Given the description of an element on the screen output the (x, y) to click on. 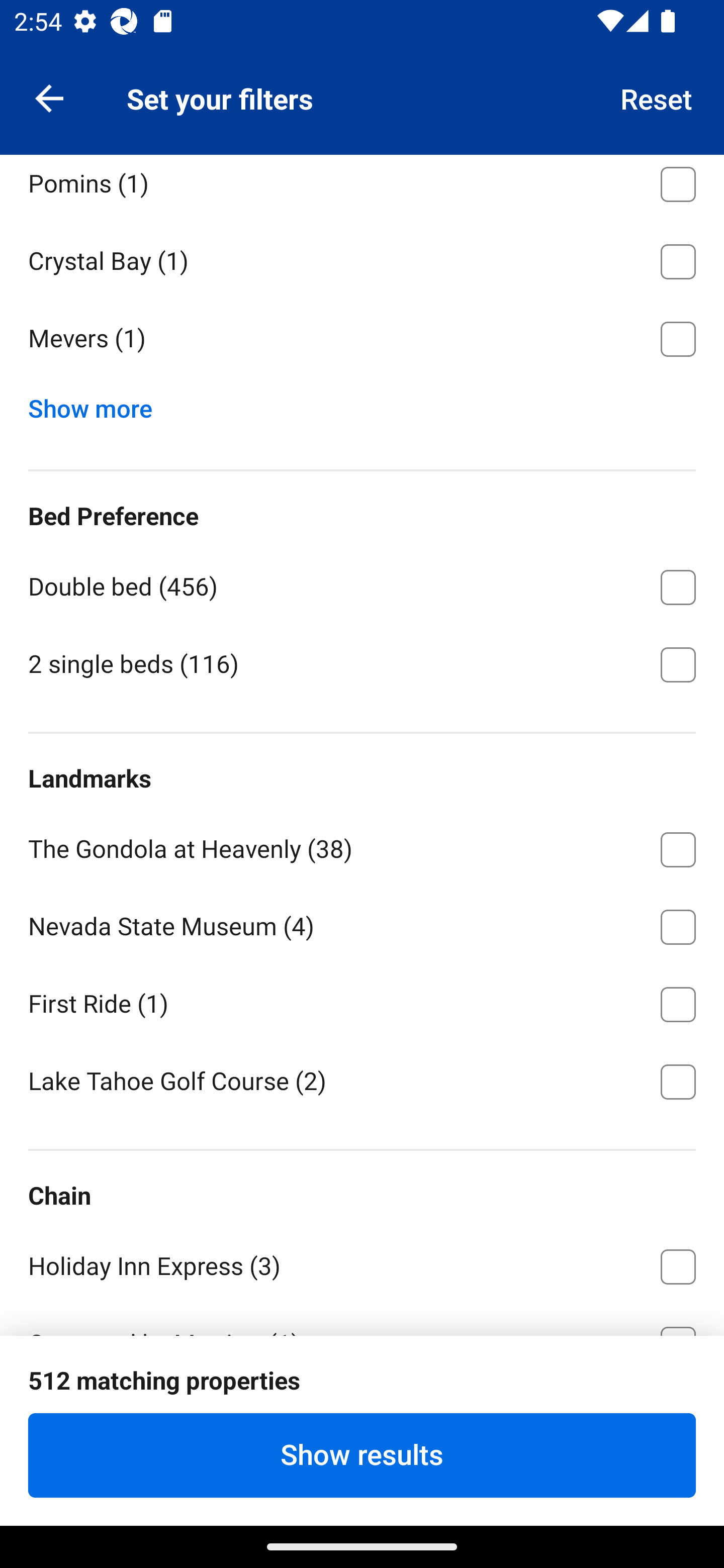
Navigate up (49, 97)
Reset (656, 97)
Round Hill ⁦(1) (361, 103)
Pomins ⁦(1) (361, 187)
Crystal Bay ⁦(1) (361, 257)
Mevers ⁦(1) (361, 338)
Show more (97, 403)
Double bed ⁦(456) (361, 583)
2 single beds ⁦(116) (361, 663)
The Gondola at Heavenly ⁦(38) (361, 845)
Nevada State Museum ⁦(4) (361, 923)
First Ride ⁦(1) (361, 1000)
Lake Tahoe Golf Course ⁦(2) (361, 1080)
Holiday Inn Express ⁦(3) (361, 1262)
Show results (361, 1454)
